Given the description of an element on the screen output the (x, y) to click on. 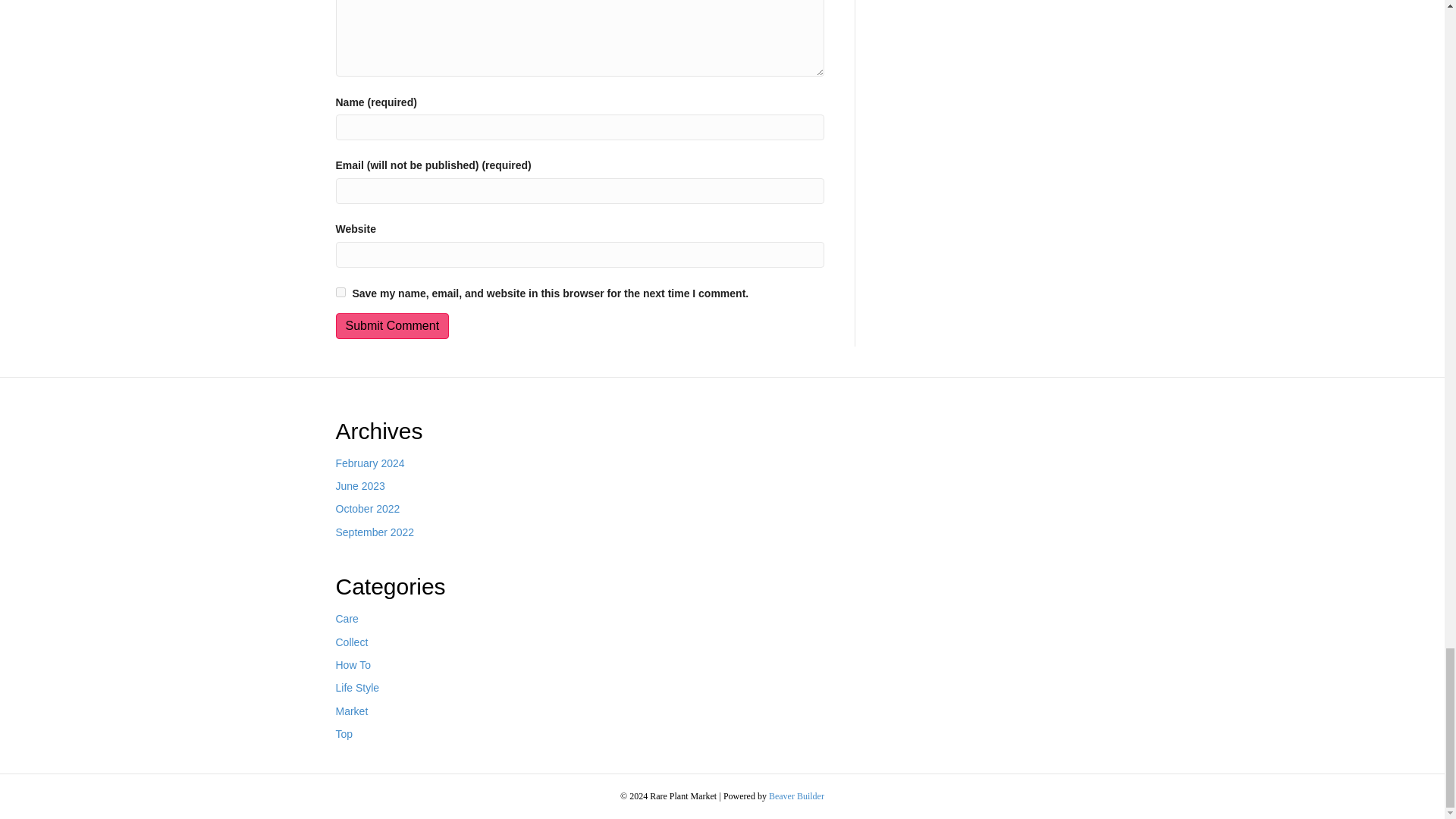
Top (343, 734)
Submit Comment (391, 325)
Collect (351, 642)
October 2022 (366, 508)
Beaver Builder (796, 796)
Life Style (356, 687)
September 2022 (373, 532)
yes (339, 292)
Care (346, 618)
June 2023 (359, 485)
